Given the description of an element on the screen output the (x, y) to click on. 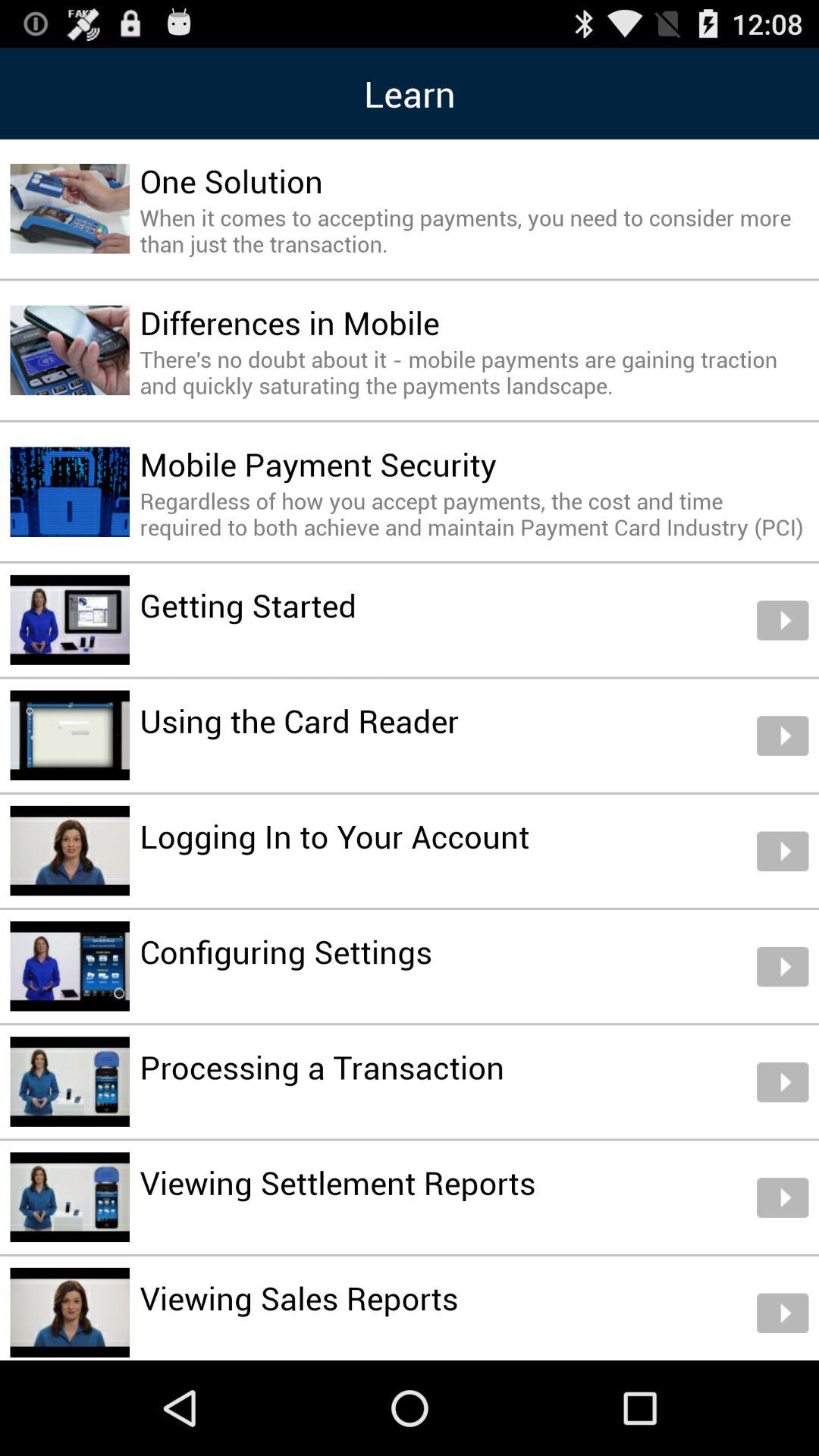
press item above viewing settlement reports (321, 1066)
